Given the description of an element on the screen output the (x, y) to click on. 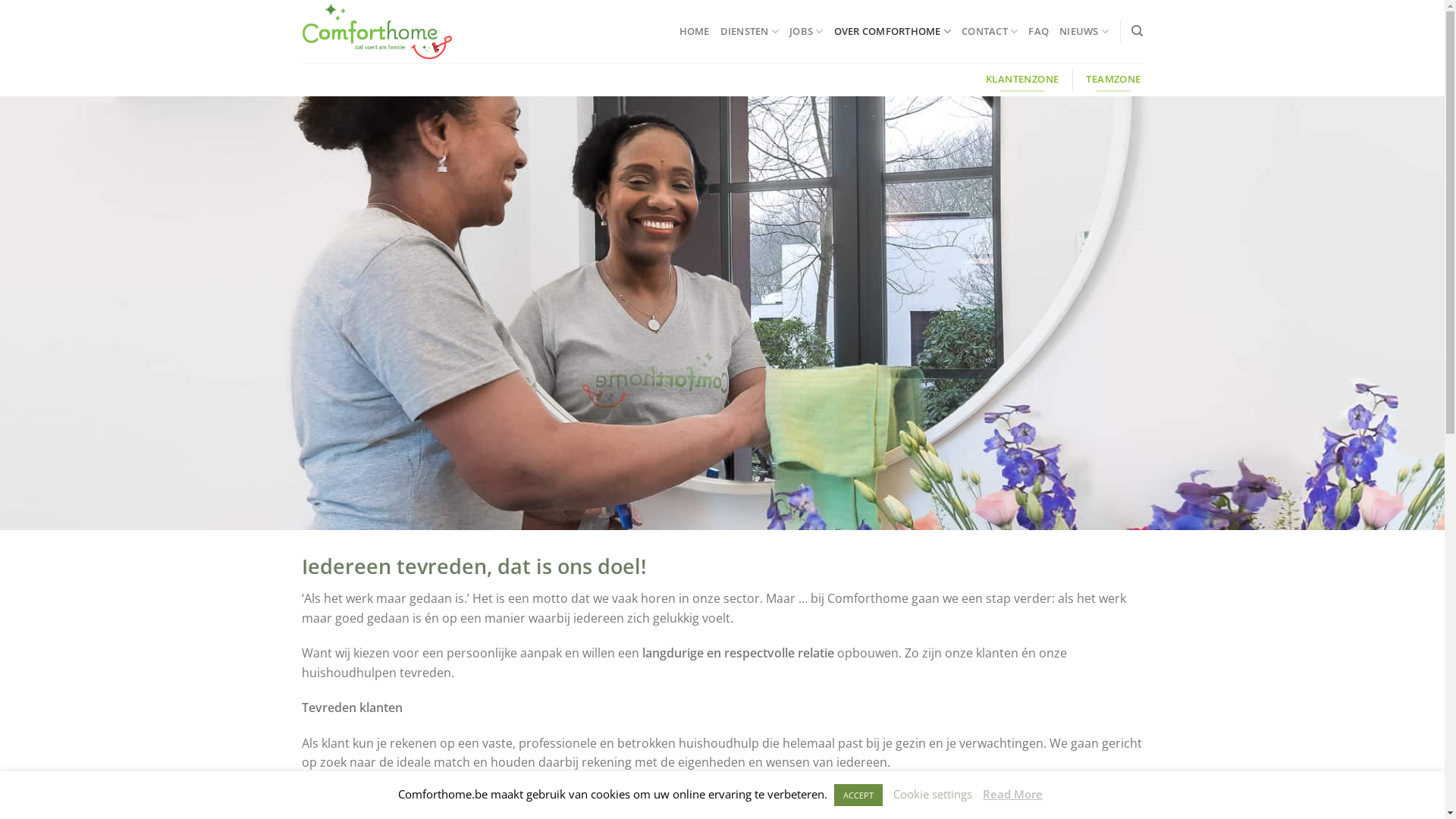
Cookie settings Element type: text (932, 793)
VRAAG JE HUISHOUDHULP AAN Element type: text (413, 803)
NIEUWS Element type: text (1083, 30)
CONTACT Element type: text (989, 30)
DIENSTEN Element type: text (749, 30)
Read More Element type: text (1012, 793)
Comforthome - Dat voelt als familie Element type: hover (376, 31)
OVER COMFORTHOME Element type: text (892, 30)
FAQ Element type: text (1038, 30)
JOBS Element type: text (805, 30)
HOME Element type: text (694, 30)
TEAMZONE Element type: text (1112, 79)
KLANTENZONE Element type: text (1021, 79)
ACCEPT Element type: text (858, 795)
Skip to content Element type: text (0, 0)
